Given the description of an element on the screen output the (x, y) to click on. 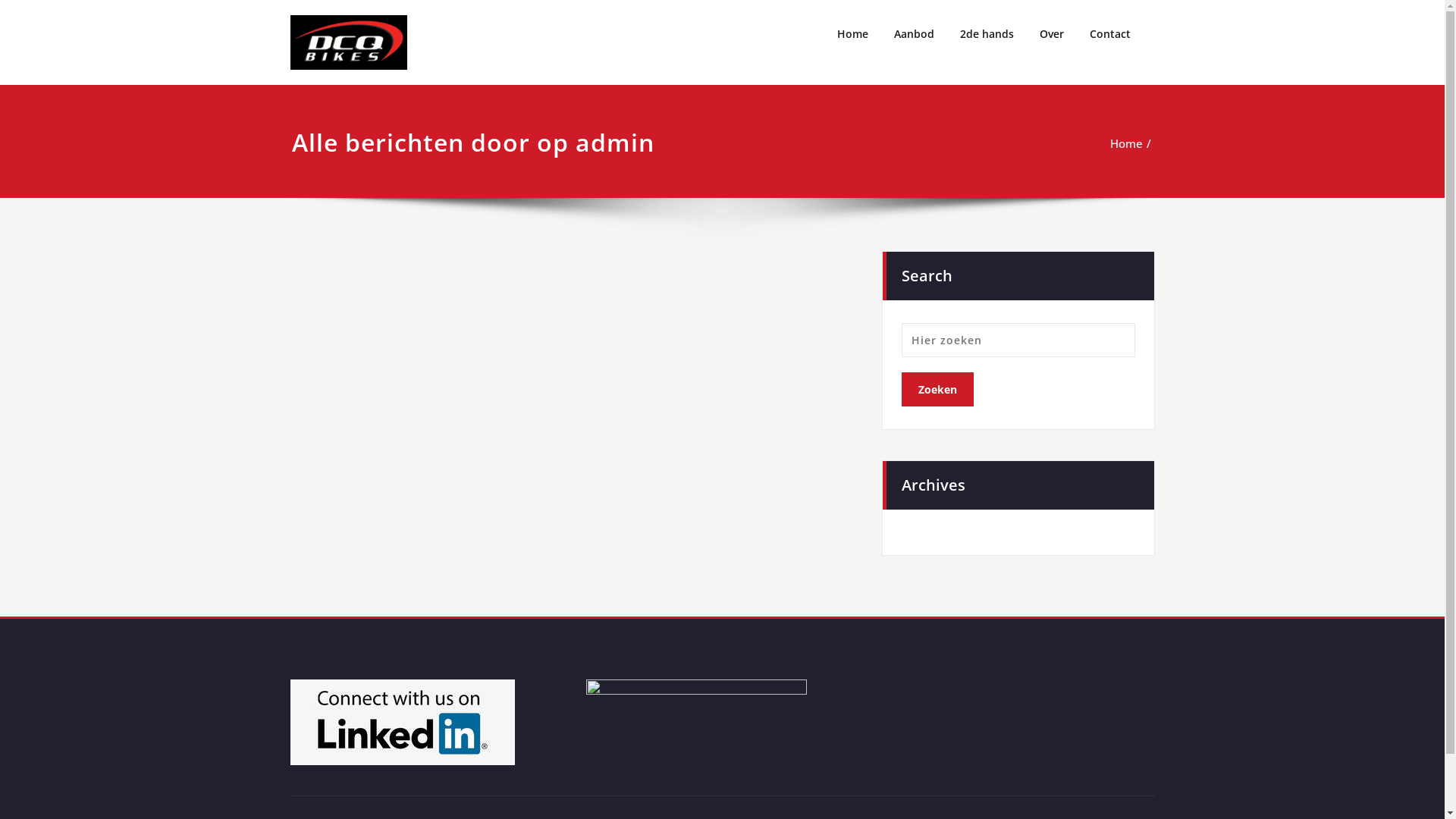
Doorgaan naar artikel Element type: text (0, 0)
Home Element type: text (851, 34)
Home Element type: text (1126, 142)
Zoeken Element type: text (936, 389)
2de hands Element type: text (986, 34)
Over Element type: text (1051, 34)
DCQ Bikes Element type: text (501, 24)
Aanbod Element type: text (914, 34)
Contact Element type: text (1109, 34)
